Given the description of an element on the screen output the (x, y) to click on. 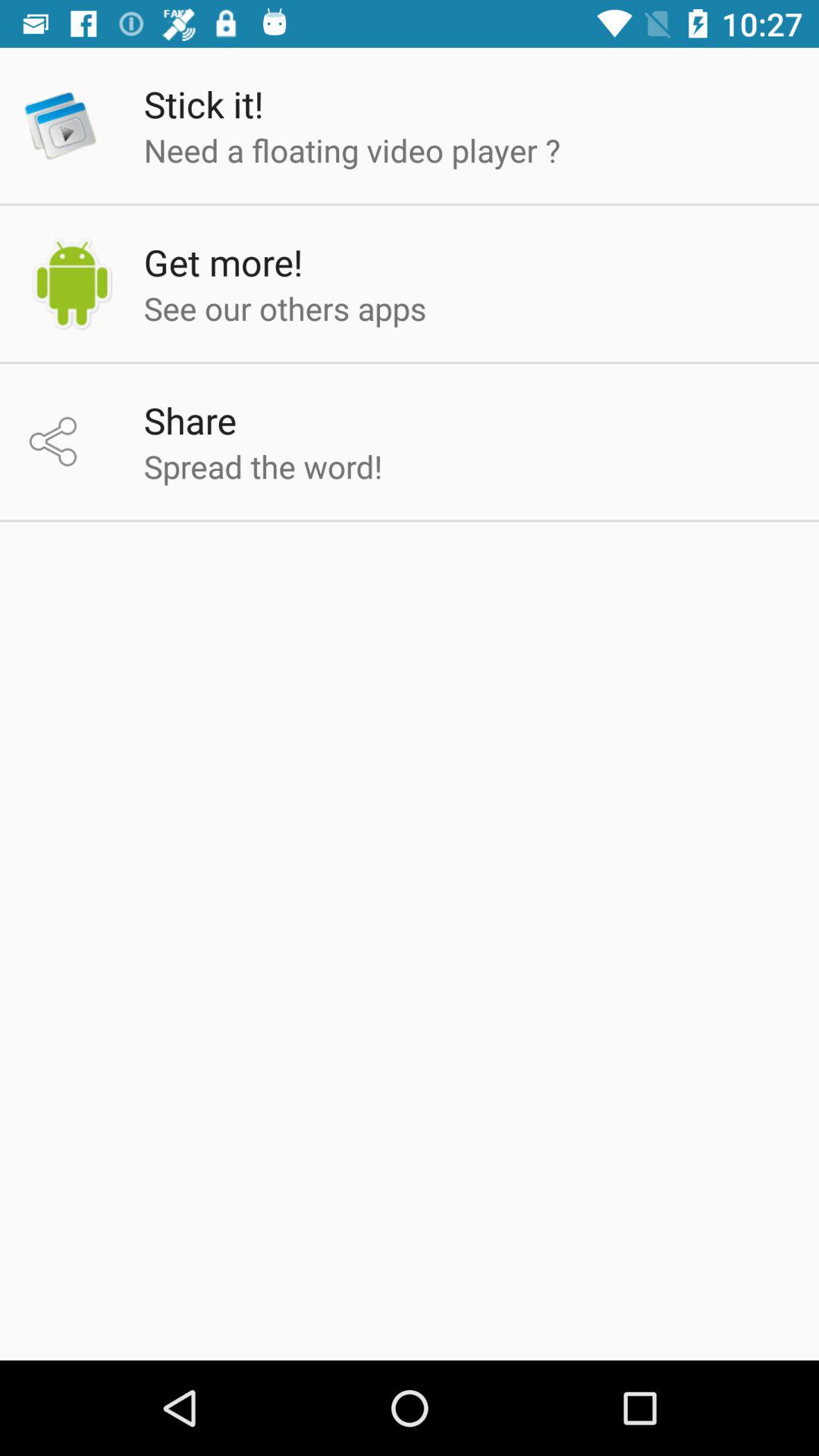
press item below the need a floating item (222, 261)
